Given the description of an element on the screen output the (x, y) to click on. 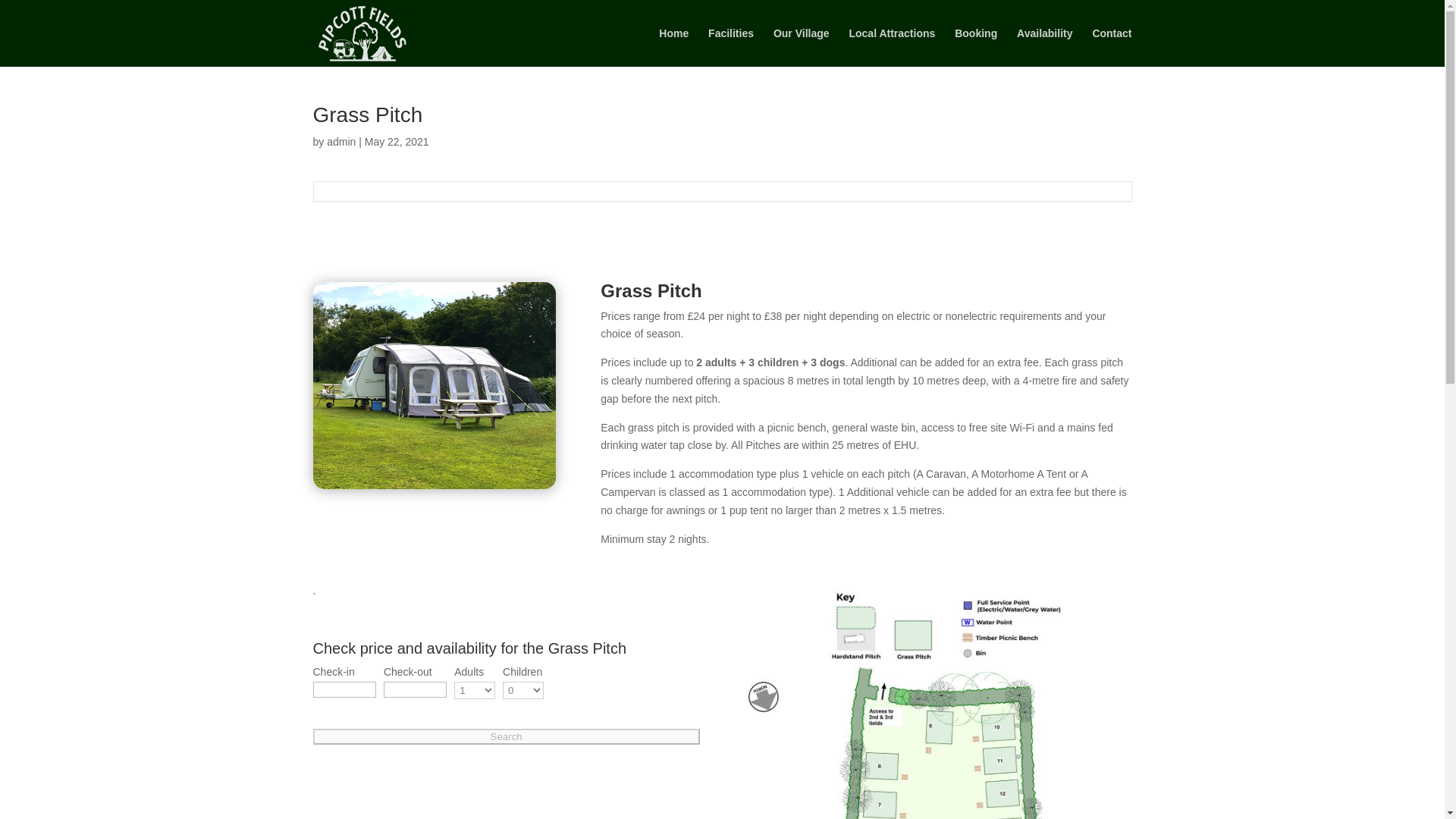
Pipcott-Fields-Campsite-image-1 (937, 703)
Facilities (730, 46)
Search (505, 736)
Search (505, 736)
Availability (1043, 46)
Posts by admin (340, 141)
Booking (976, 46)
Our Village (801, 46)
Contact (1111, 46)
grass-pitches (433, 384)
Local Attractions (891, 46)
admin (340, 141)
